Given the description of an element on the screen output the (x, y) to click on. 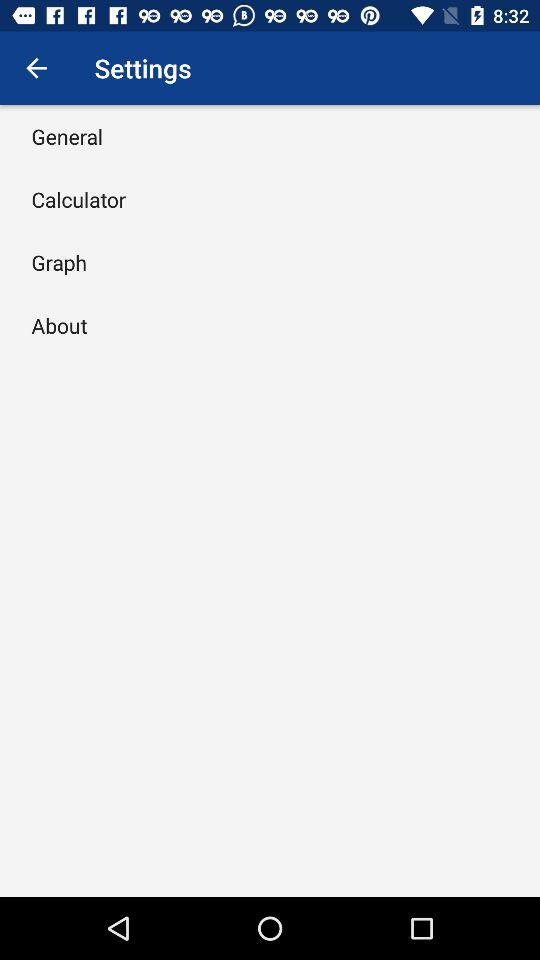
press the icon below graph icon (59, 325)
